Given the description of an element on the screen output the (x, y) to click on. 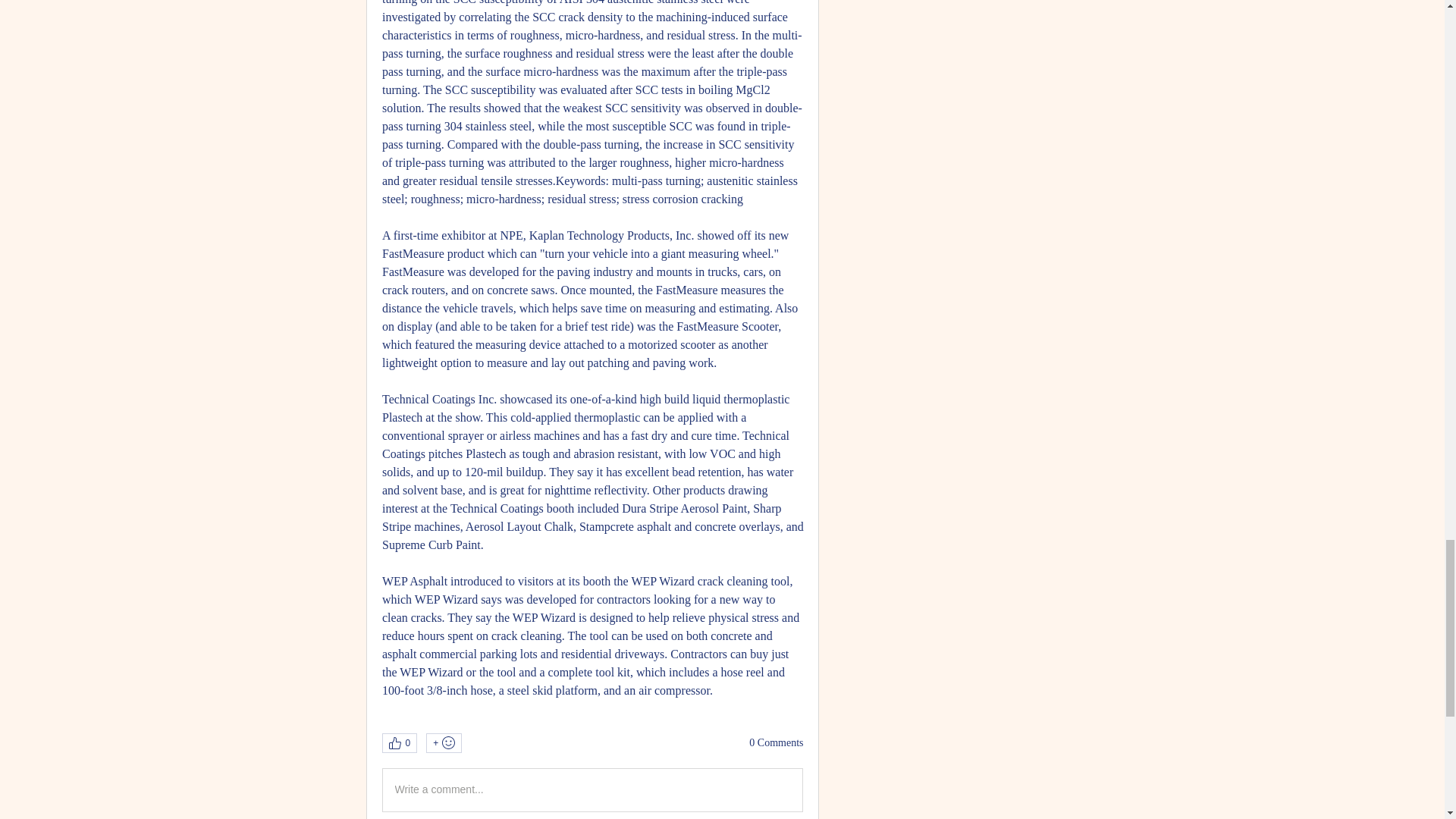
Write a comment... (591, 790)
0 Comments (776, 743)
